Given the description of an element on the screen output the (x, y) to click on. 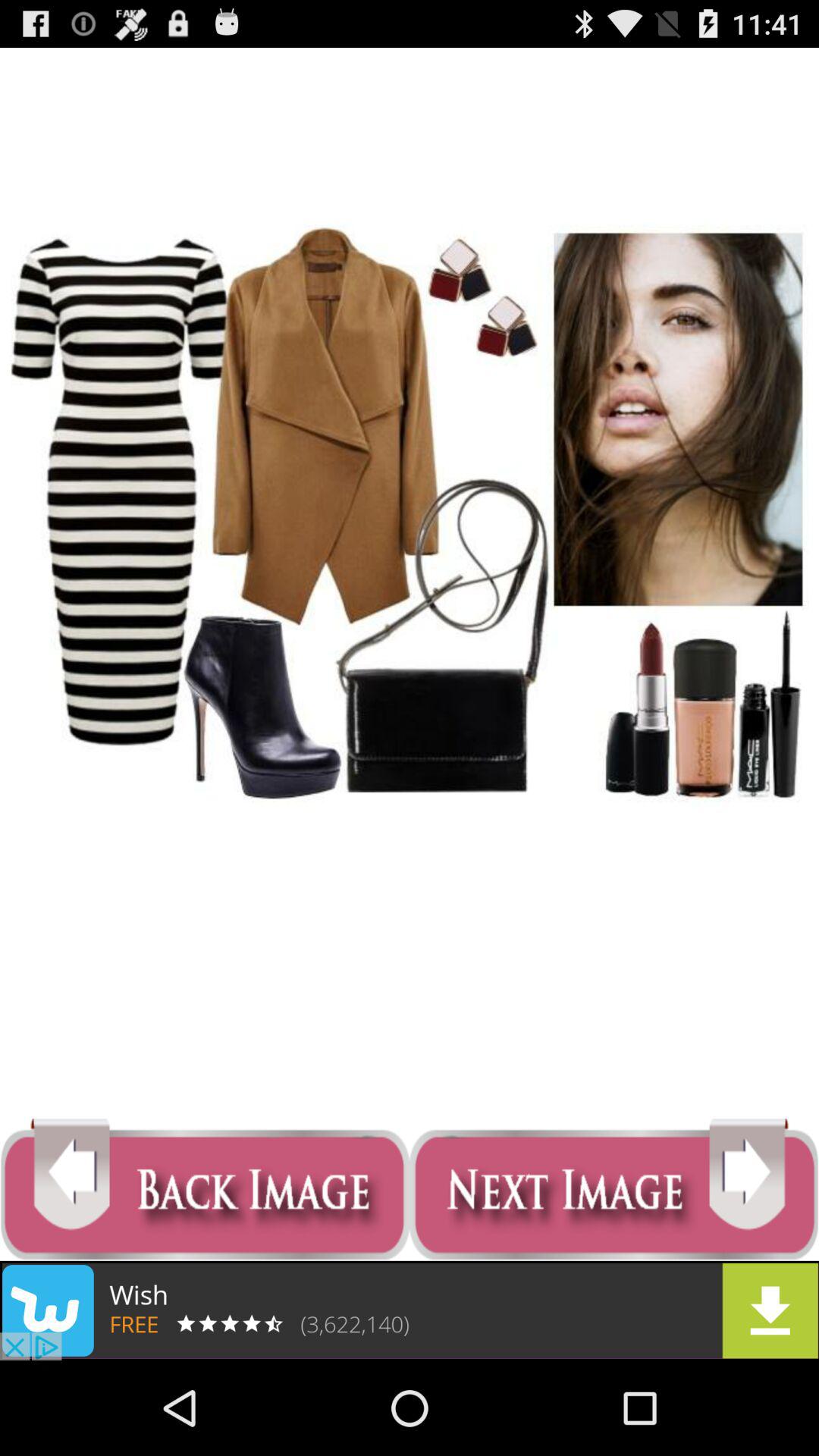
advertisement download option (409, 1310)
